Given the description of an element on the screen output the (x, y) to click on. 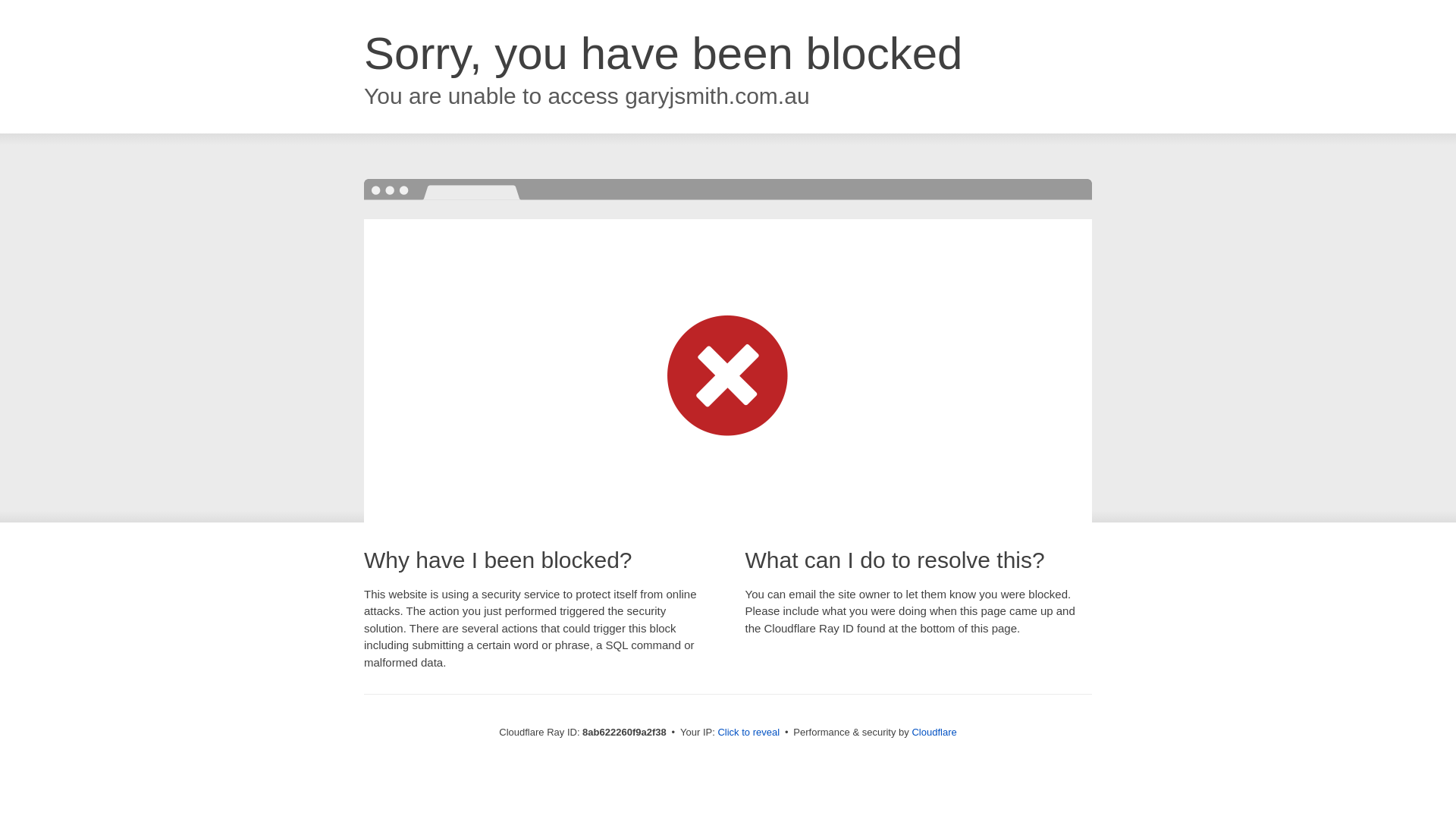
Click to reveal (747, 732)
Cloudflare (933, 731)
